Given the description of an element on the screen output the (x, y) to click on. 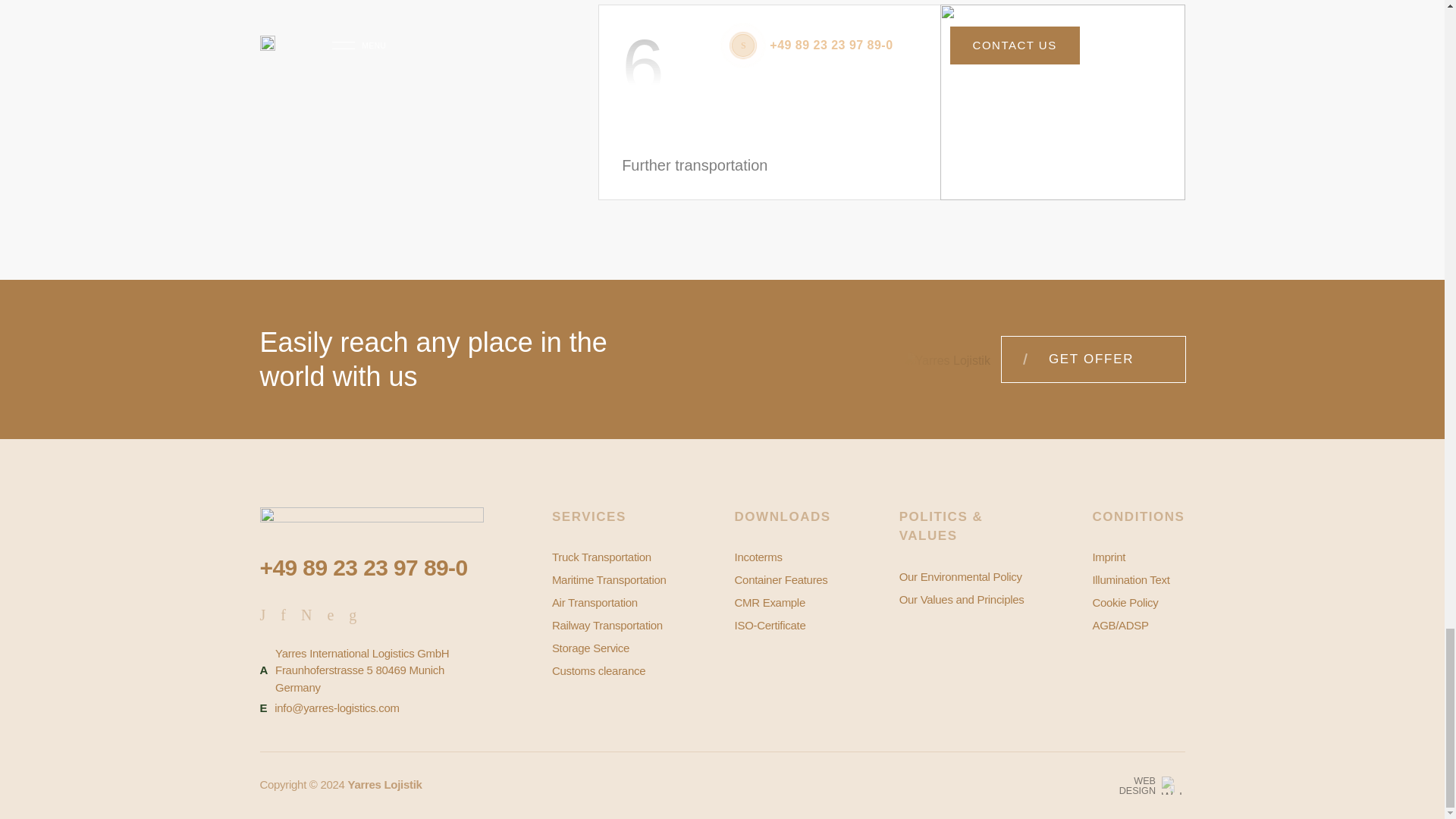
Web Design (1138, 785)
GET OFFER (1093, 359)
Penta Software (1170, 785)
Web Design (1174, 788)
Penta Software (1173, 785)
Yarres Lojistik (270, 361)
